Given the description of an element on the screen output the (x, y) to click on. 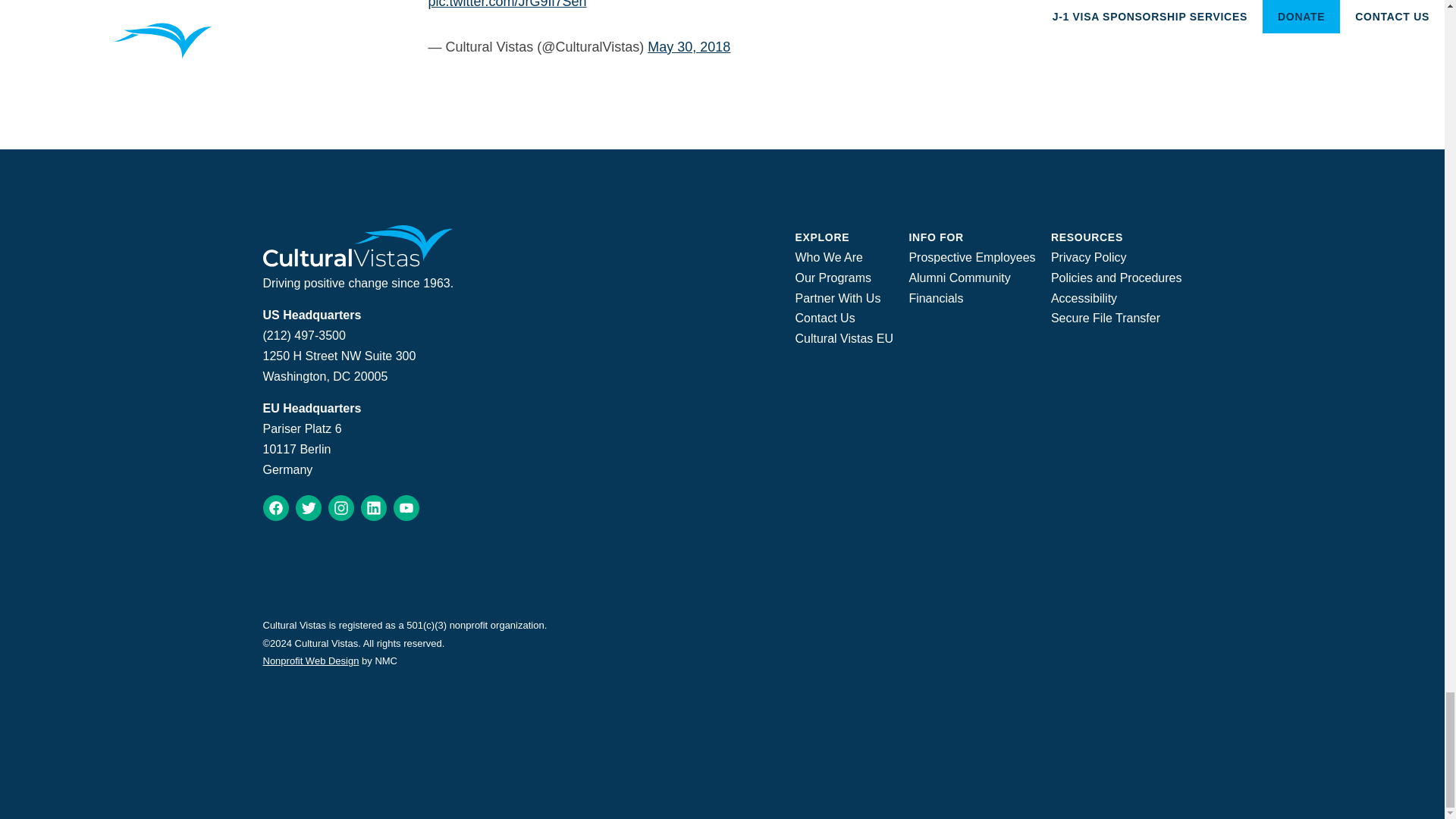
homepage (357, 262)
